Given the description of an element on the screen output the (x, y) to click on. 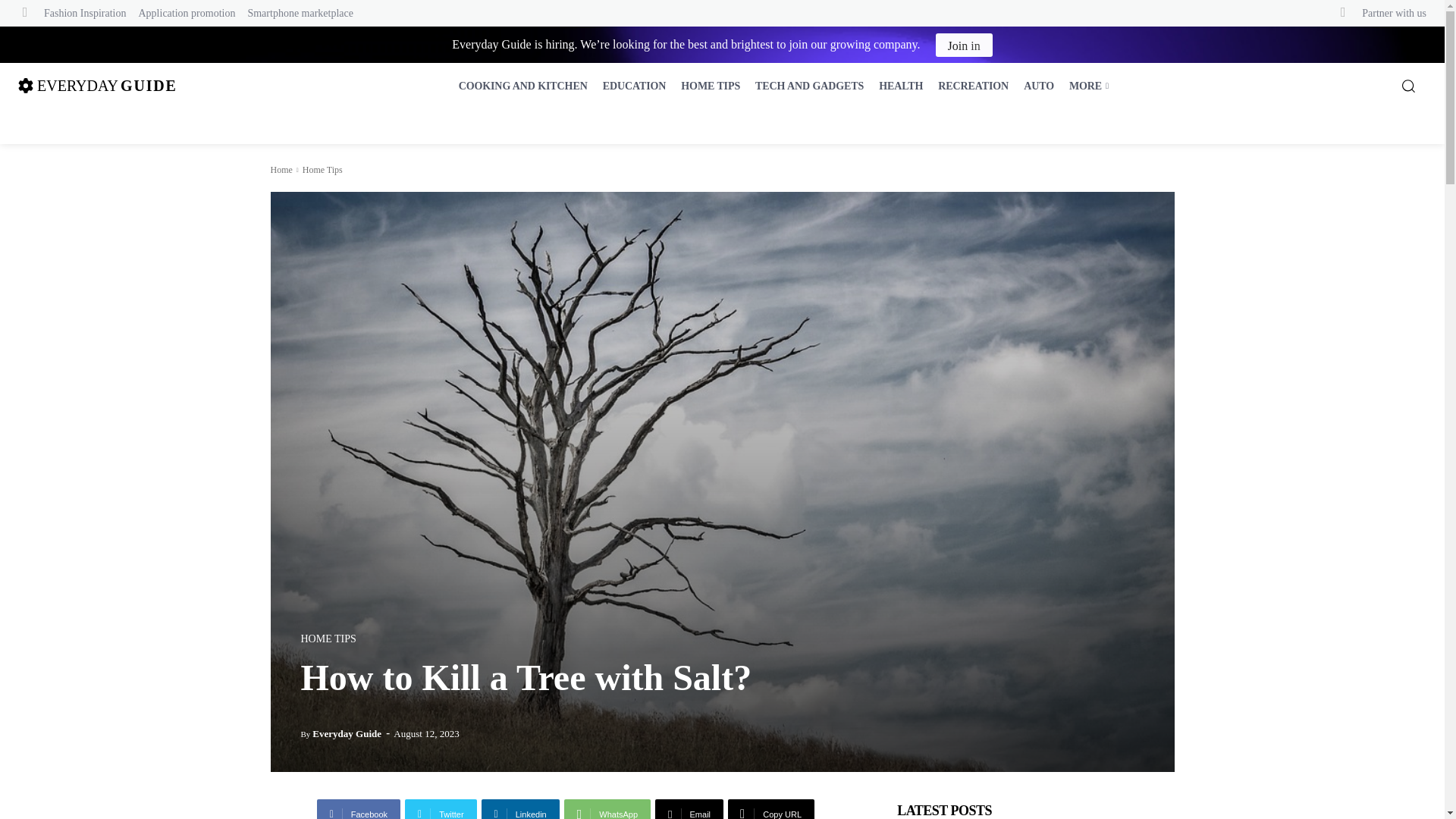
Copy URL (770, 809)
Facebook (358, 809)
Facebook (358, 809)
Application promotion (186, 12)
AUTO (1038, 86)
HEALTH (900, 86)
Everyday Guide (97, 85)
Home Tips (347, 734)
Join in (322, 169)
TECH AND GADGETS (964, 44)
Join in (809, 86)
Linkedin (964, 44)
Home (520, 809)
Smartphone marketplace (280, 169)
